Given the description of an element on the screen output the (x, y) to click on. 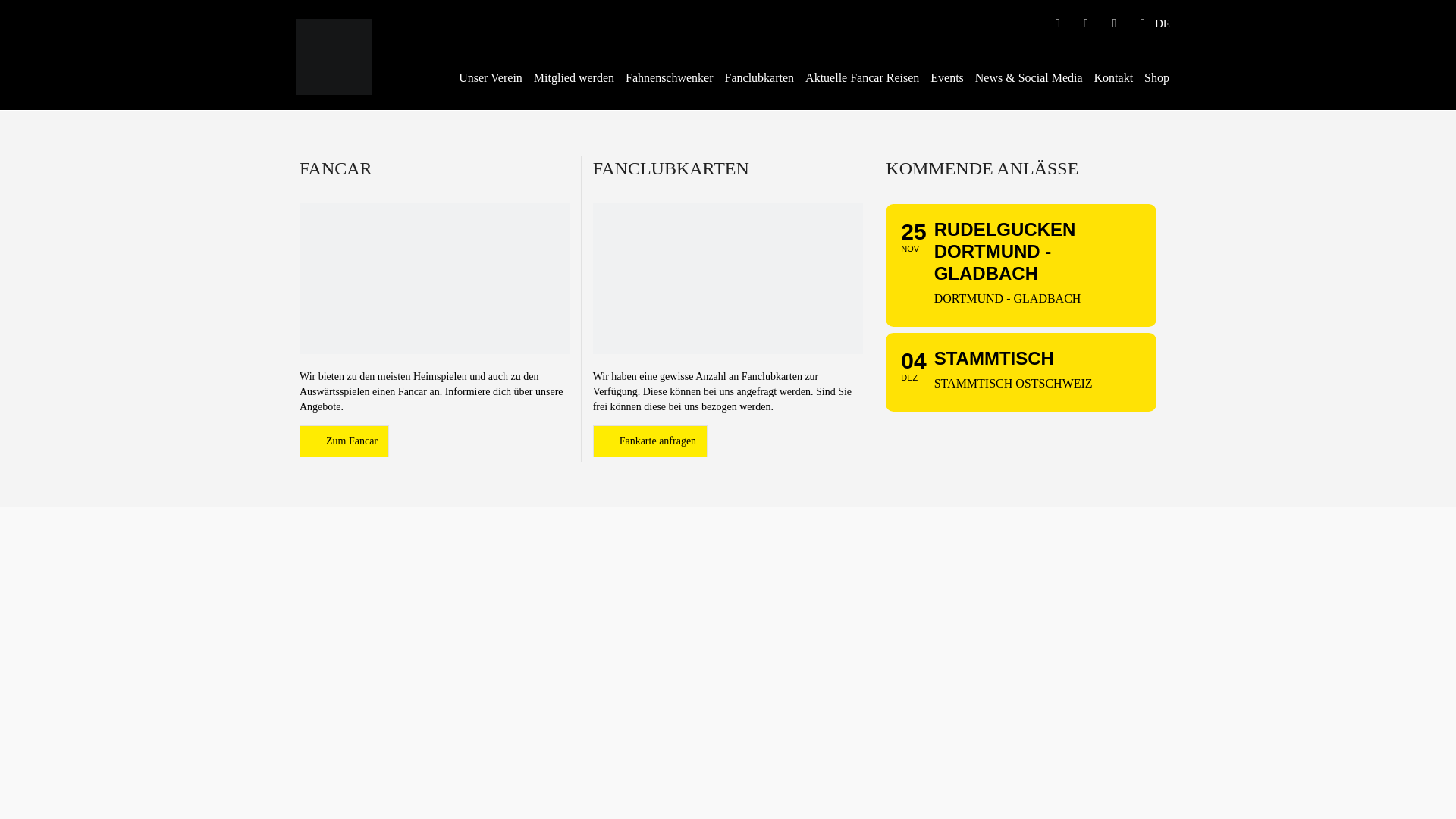
Fanclubkarten Element type: text (759, 78)
Fahnenschwenker Element type: text (669, 78)
Unser Verein Element type: text (490, 78)
Events Element type: text (947, 78)
News & Social Media Element type: text (1028, 78)
Fankarte anfragen Element type: text (650, 441)
04
DEZ
STAMMTISCH
STAMMTISCH OSTSCHWEIZ Element type: text (1020, 371)
Zum Fancar Element type: text (344, 441)
Mitglied werden Element type: text (574, 78)
CONFOEDERATIO HELVETICA BORUSSIA Element type: hover (333, 55)
25
NOV
RUDELGUCKEN DORTMUND - GLADBACH
DORTMUND - GLADBACH Element type: text (1020, 264)
Shop Element type: text (1157, 78)
Aktuelle Fancar Reisen Element type: text (862, 78)
Kontakt Element type: text (1113, 78)
